Given the description of an element on the screen output the (x, y) to click on. 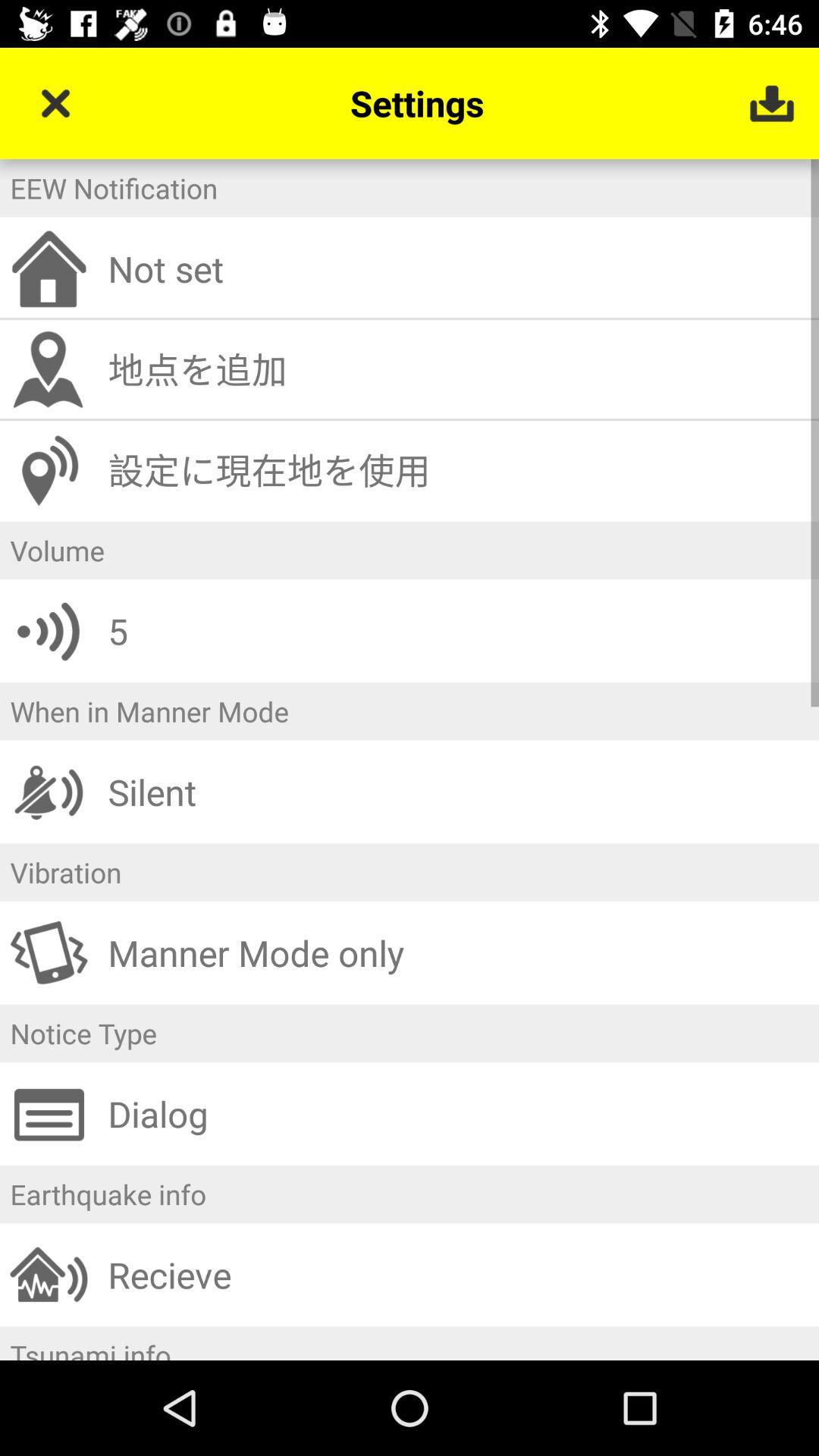
launch item below not set (458, 369)
